Given the description of an element on the screen output the (x, y) to click on. 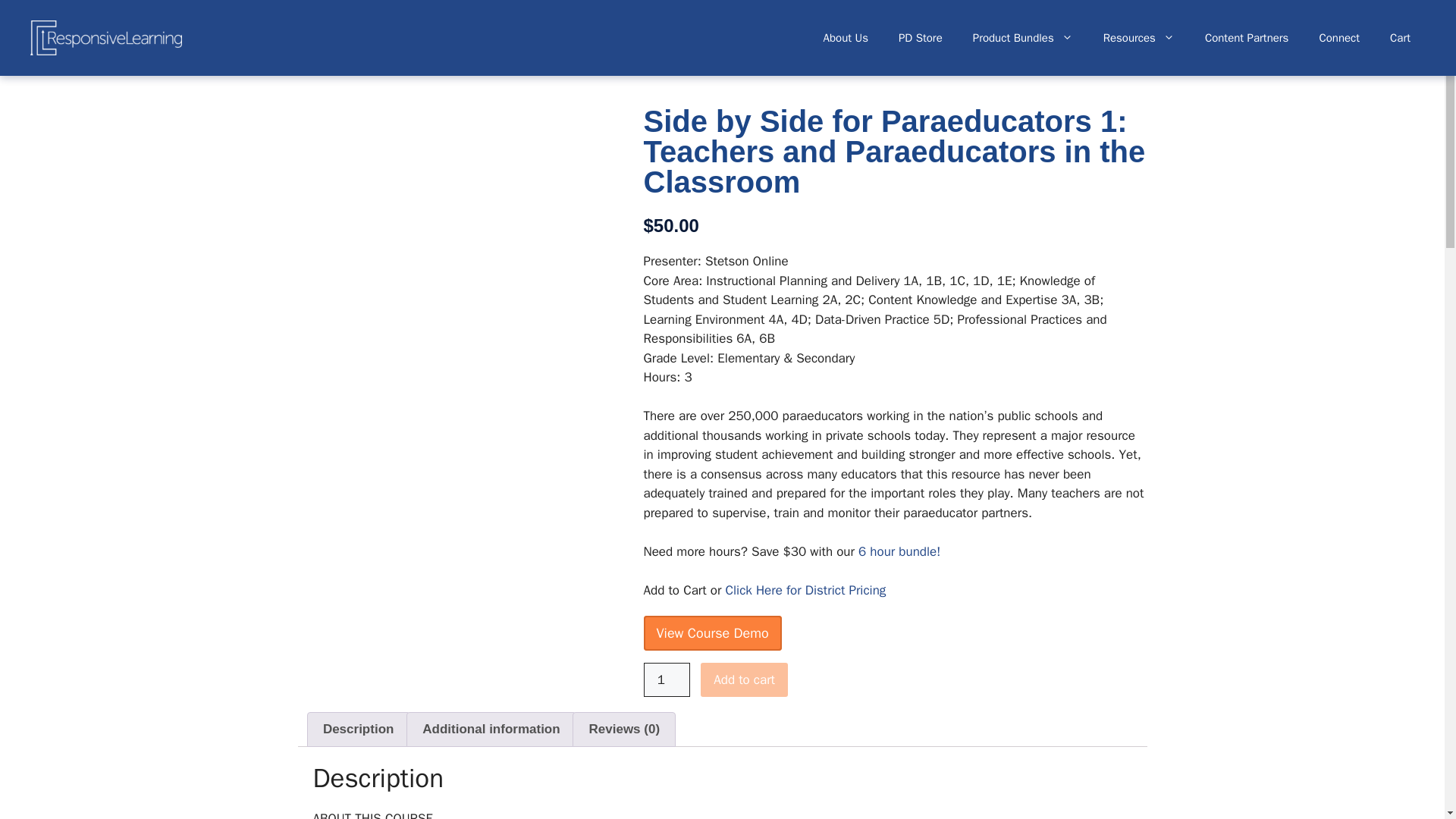
1 (666, 679)
Resources (1138, 37)
Product Bundles (1022, 37)
Content Partners (1246, 37)
Click Here for District Pricing (805, 590)
About Us (845, 37)
View Course Demo (711, 632)
6 hour bundle! (899, 550)
Add to cart (743, 679)
Cart (1399, 37)
